Given the description of an element on the screen output the (x, y) to click on. 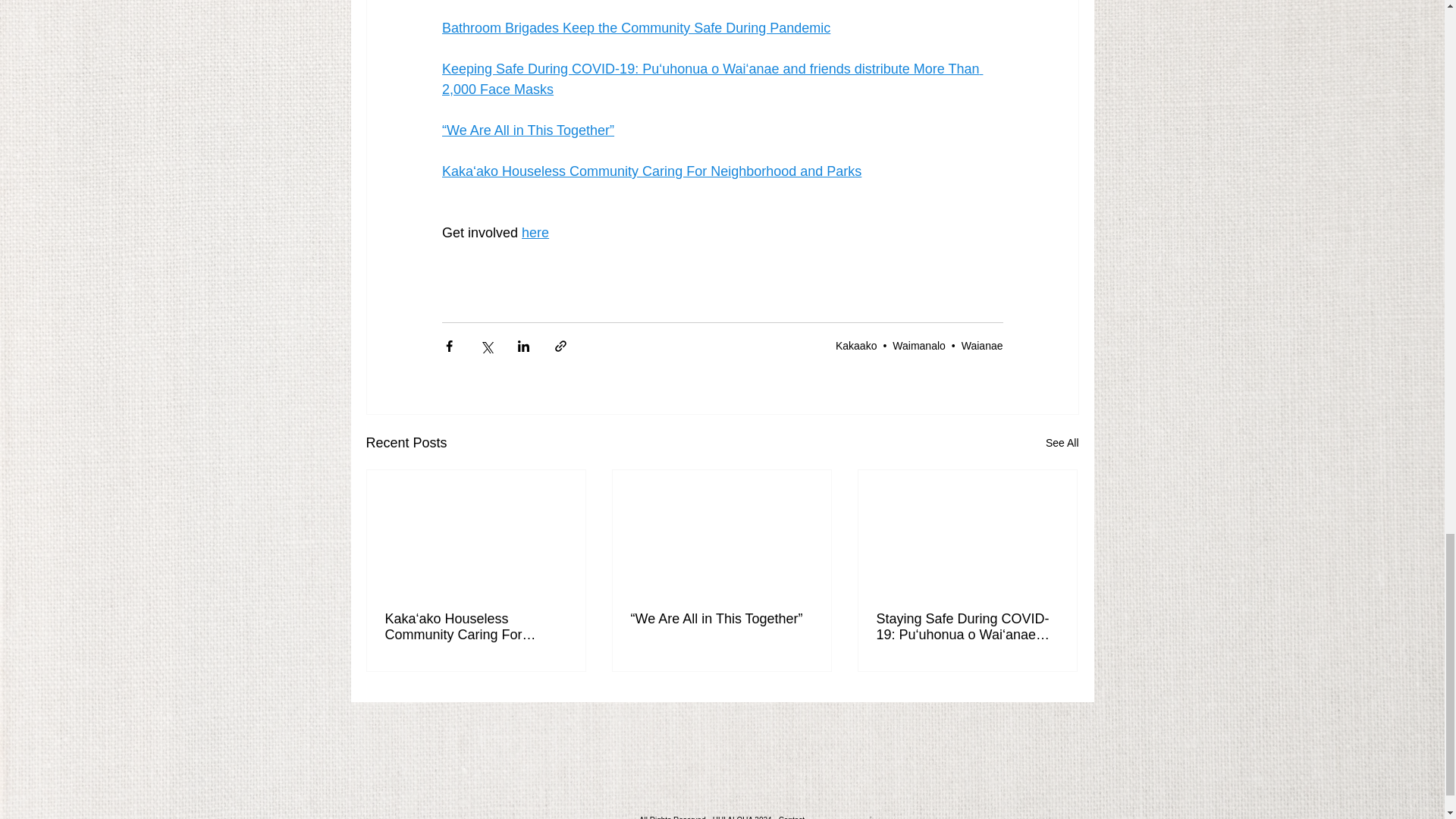
Waimanalo (918, 345)
Bathroom Brigades Keep the Community Safe During Pandemic (635, 28)
Kakaako (855, 345)
Waianae (981, 345)
See All (1061, 443)
here (534, 232)
